Given the description of an element on the screen output the (x, y) to click on. 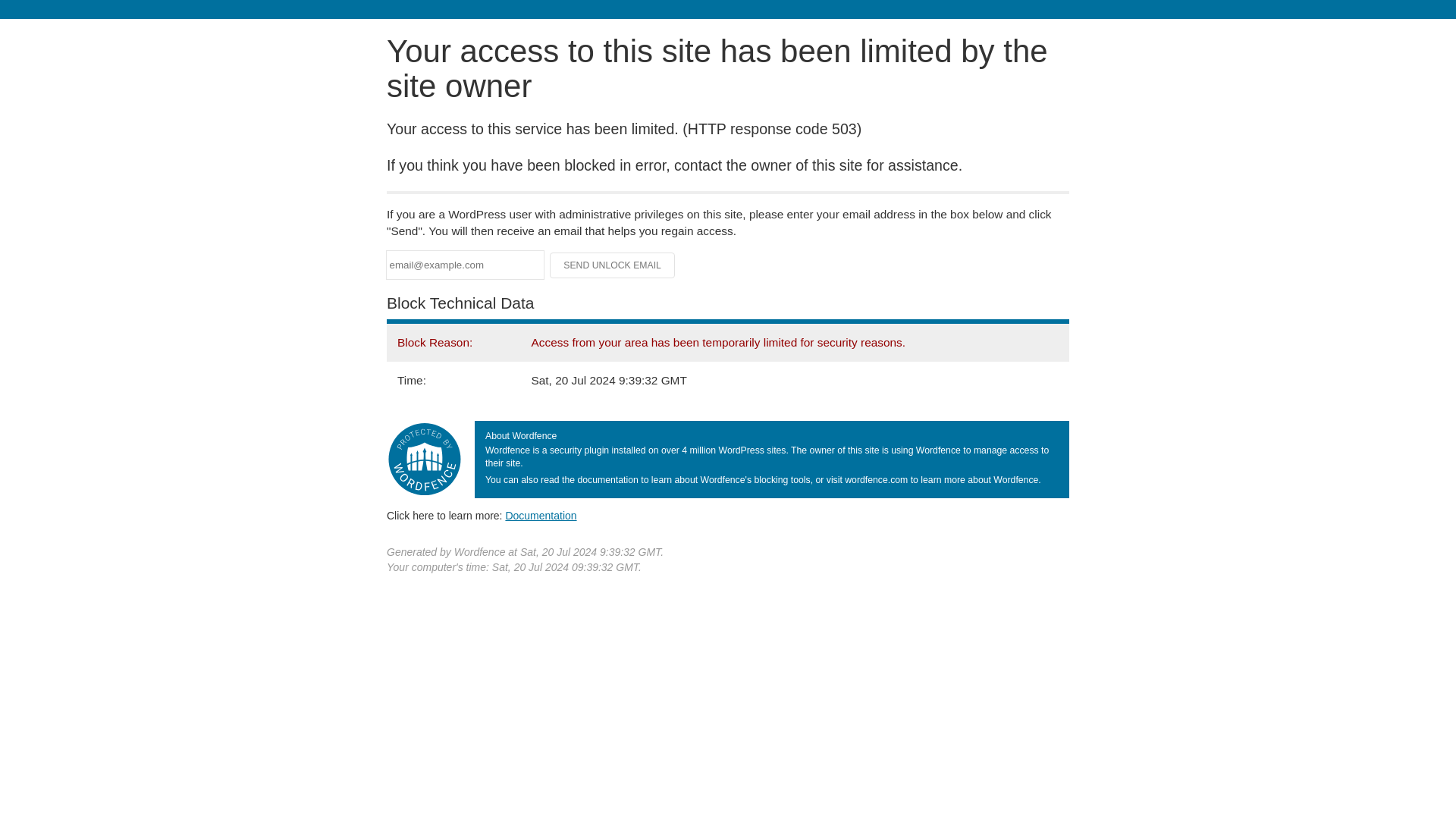
Send Unlock Email (612, 265)
Send Unlock Email (612, 265)
Documentation (540, 515)
